Given the description of an element on the screen output the (x, y) to click on. 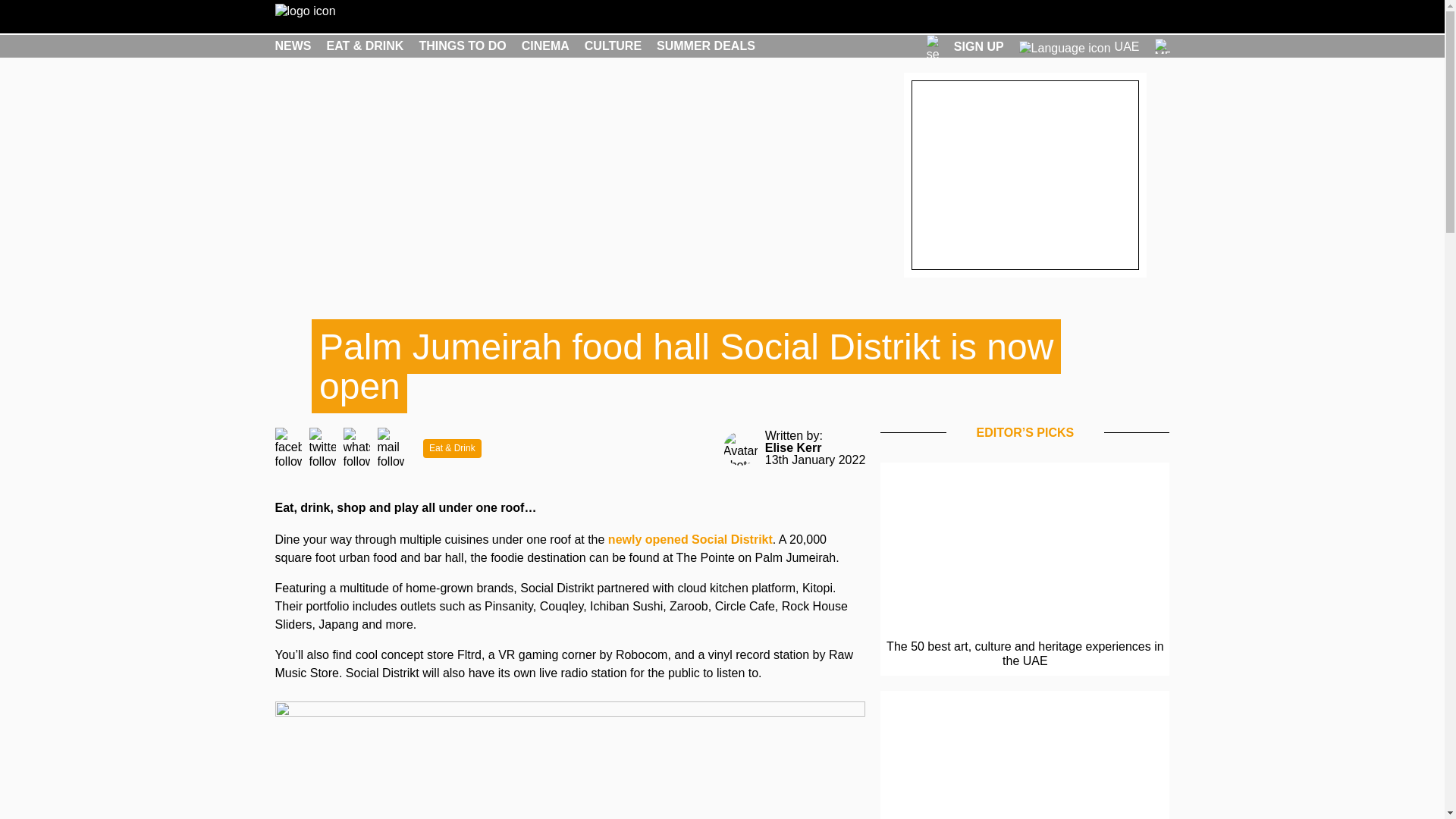
CINEMA (545, 45)
THINGS TO DO (462, 45)
NEWS (293, 45)
CULTURE (613, 45)
SIGN UP (978, 45)
SUMMER DEALS (705, 45)
